Given the description of an element on the screen output the (x, y) to click on. 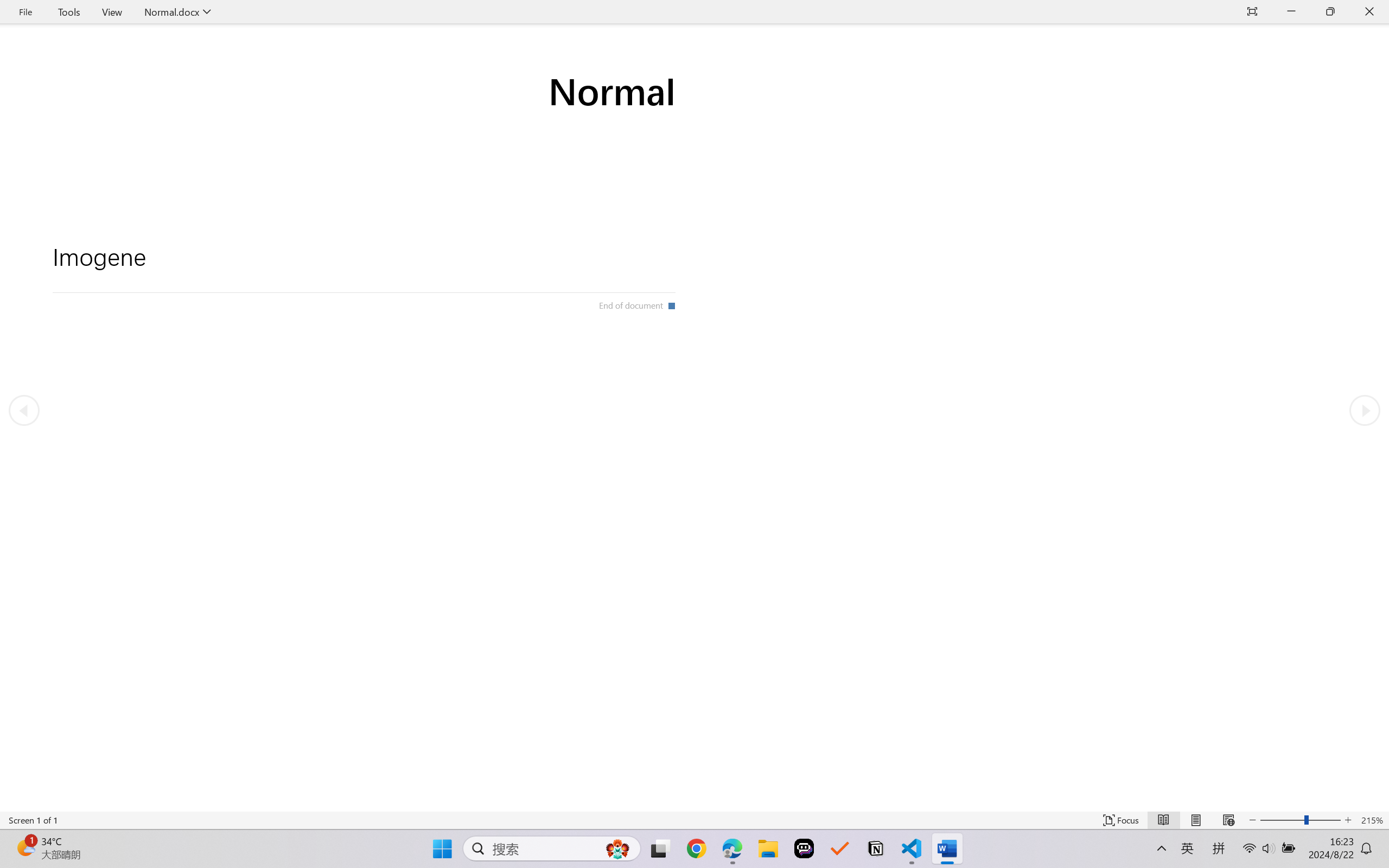
Text Size (1300, 819)
Page Number Screen 1 of 1  (32, 819)
Decrease Text Size (1252, 819)
Increase Text Size (1348, 819)
Auto-hide Reading Toolbar (1252, 11)
